Given the description of an element on the screen output the (x, y) to click on. 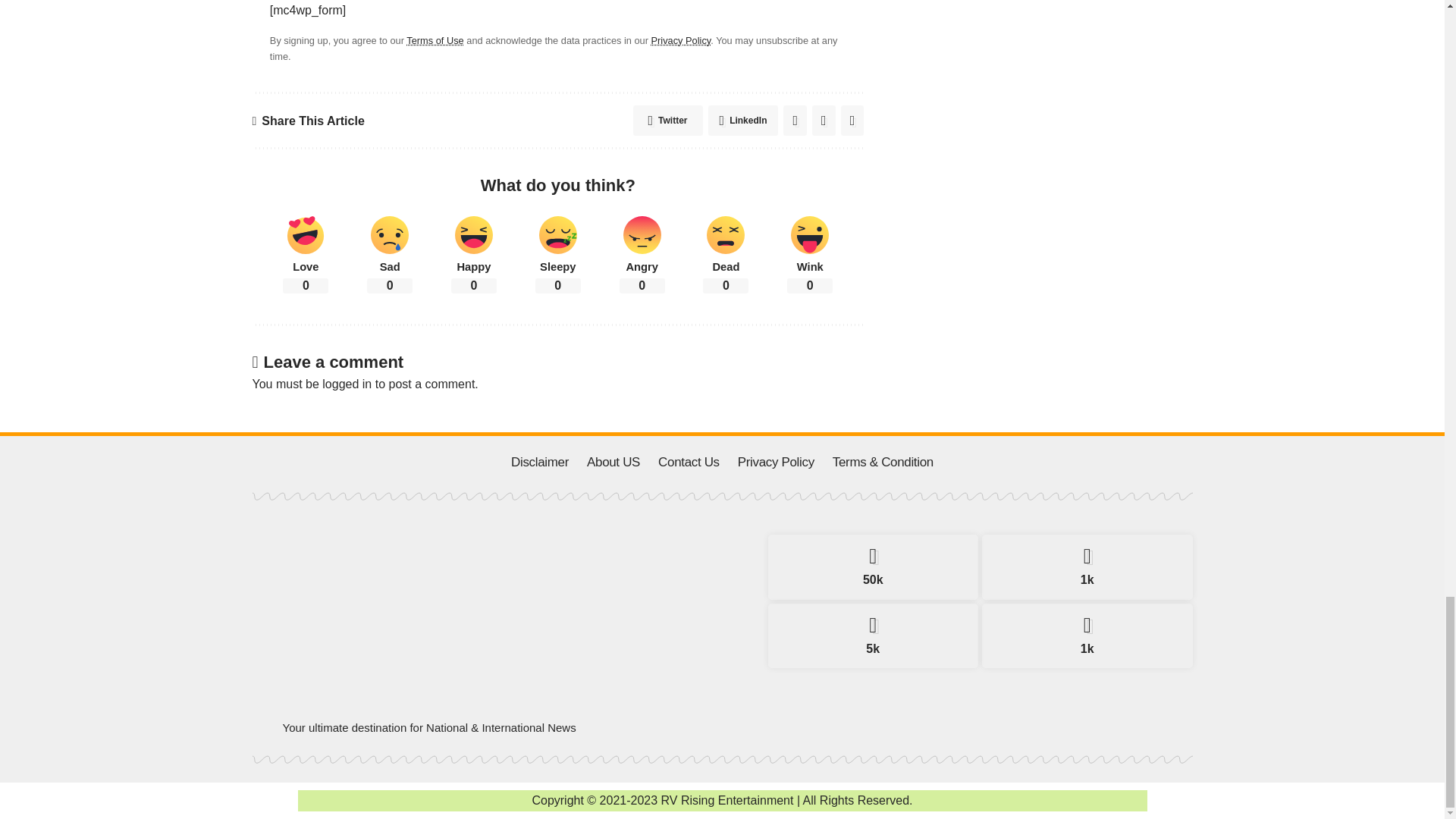
Facebook (872, 566)
Youtube (1086, 636)
Instagram (872, 636)
Twitter (1086, 566)
